Given the description of an element on the screen output the (x, y) to click on. 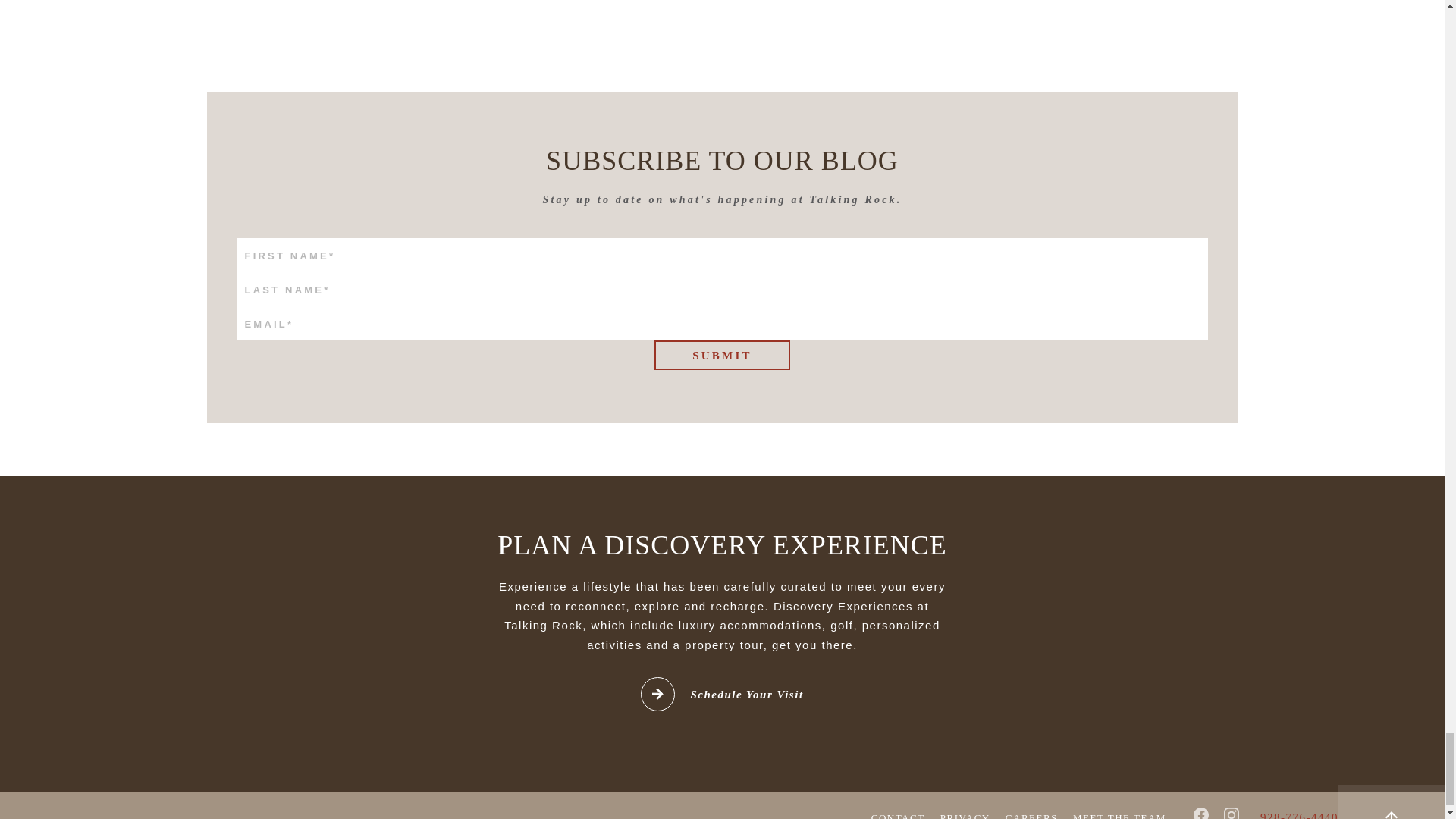
SUBMIT (721, 355)
Instagram icon (1231, 813)
Facebook icon (1200, 813)
